Given the description of an element on the screen output the (x, y) to click on. 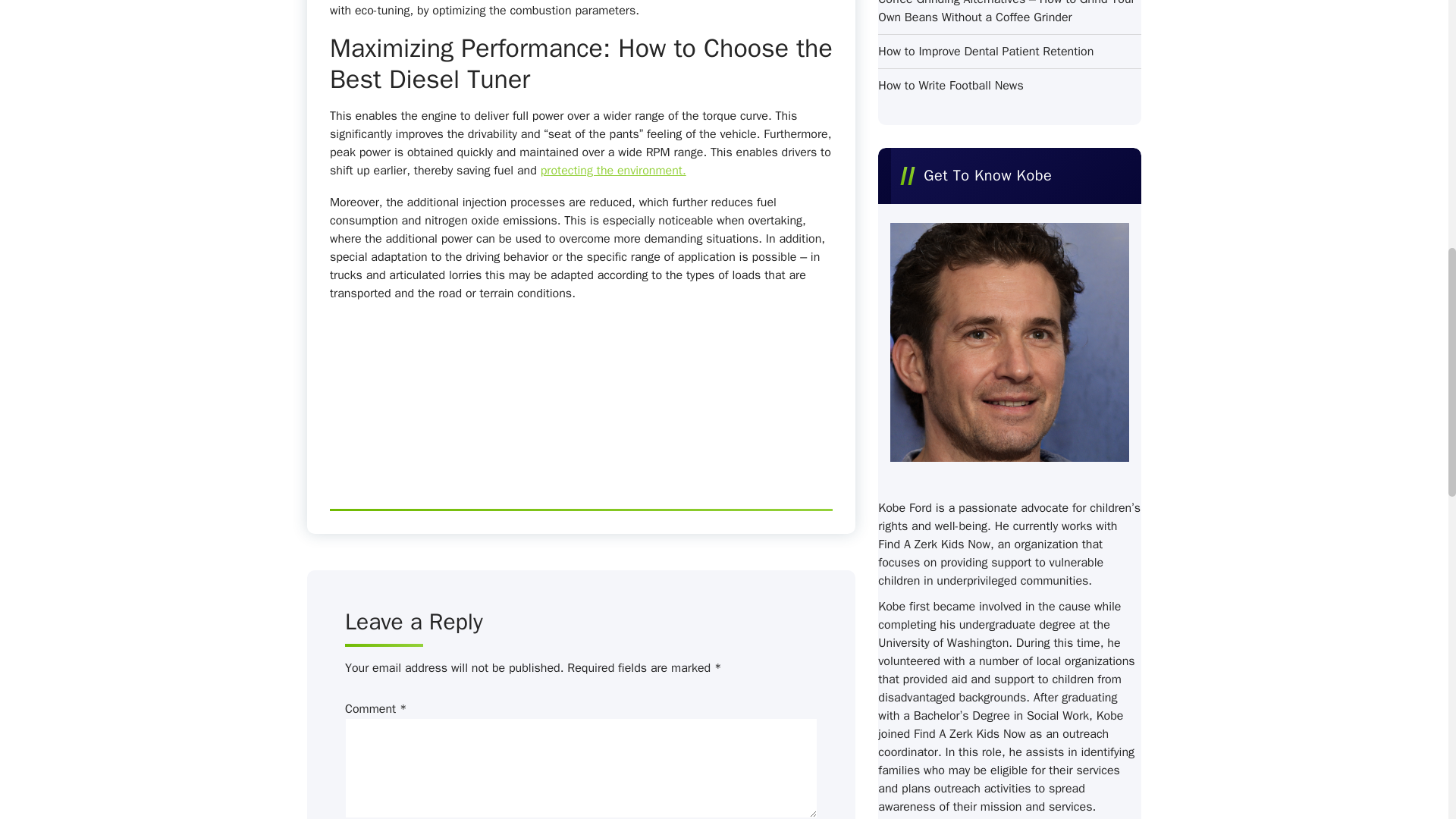
How to Write Football News (950, 85)
protecting the environment. (612, 170)
How to Improve Dental Patient Retention (985, 51)
